Given the description of an element on the screen output the (x, y) to click on. 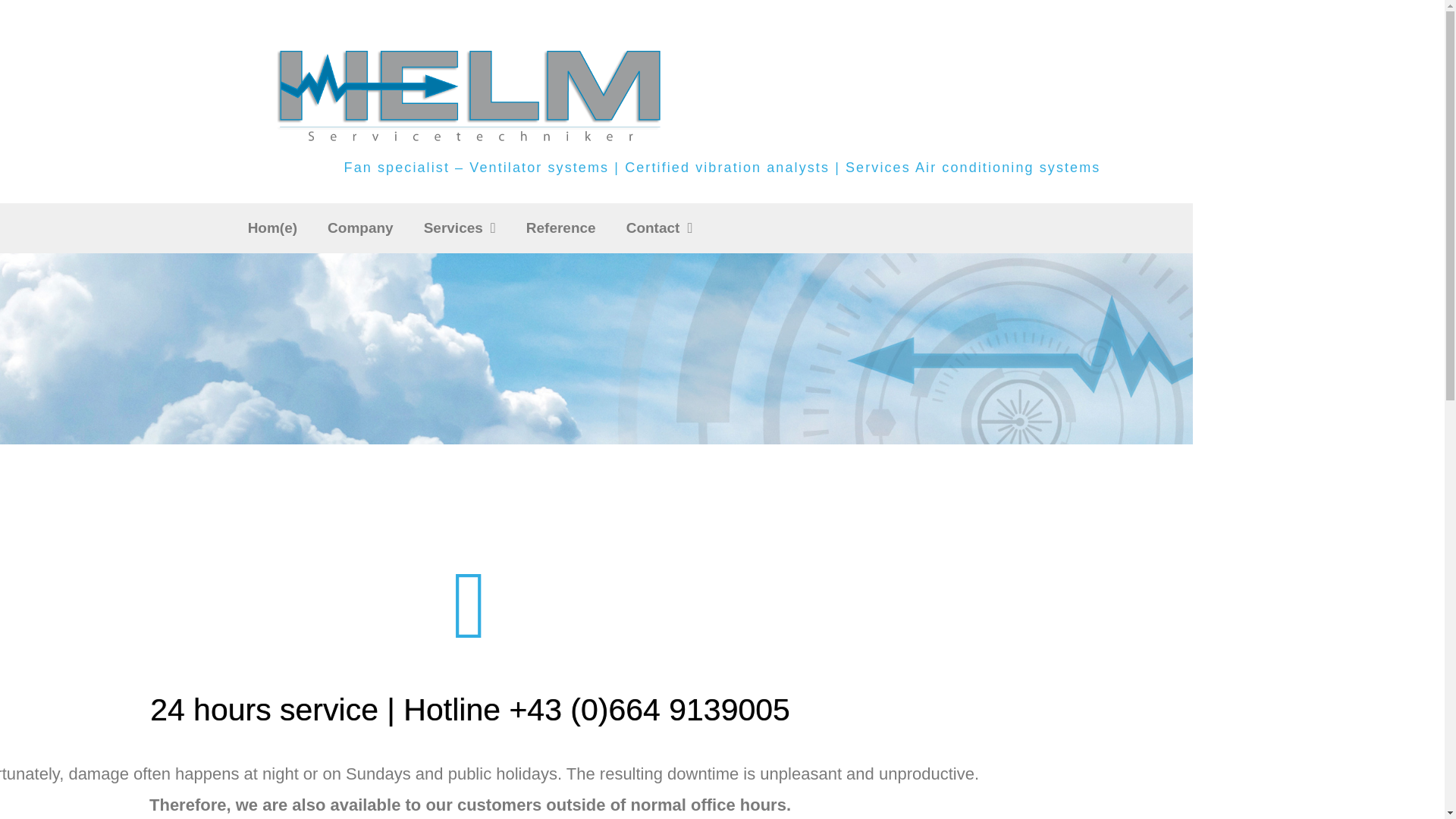
Reference (561, 227)
Company (361, 227)
Contact (659, 227)
Services (460, 227)
